Given the description of an element on the screen output the (x, y) to click on. 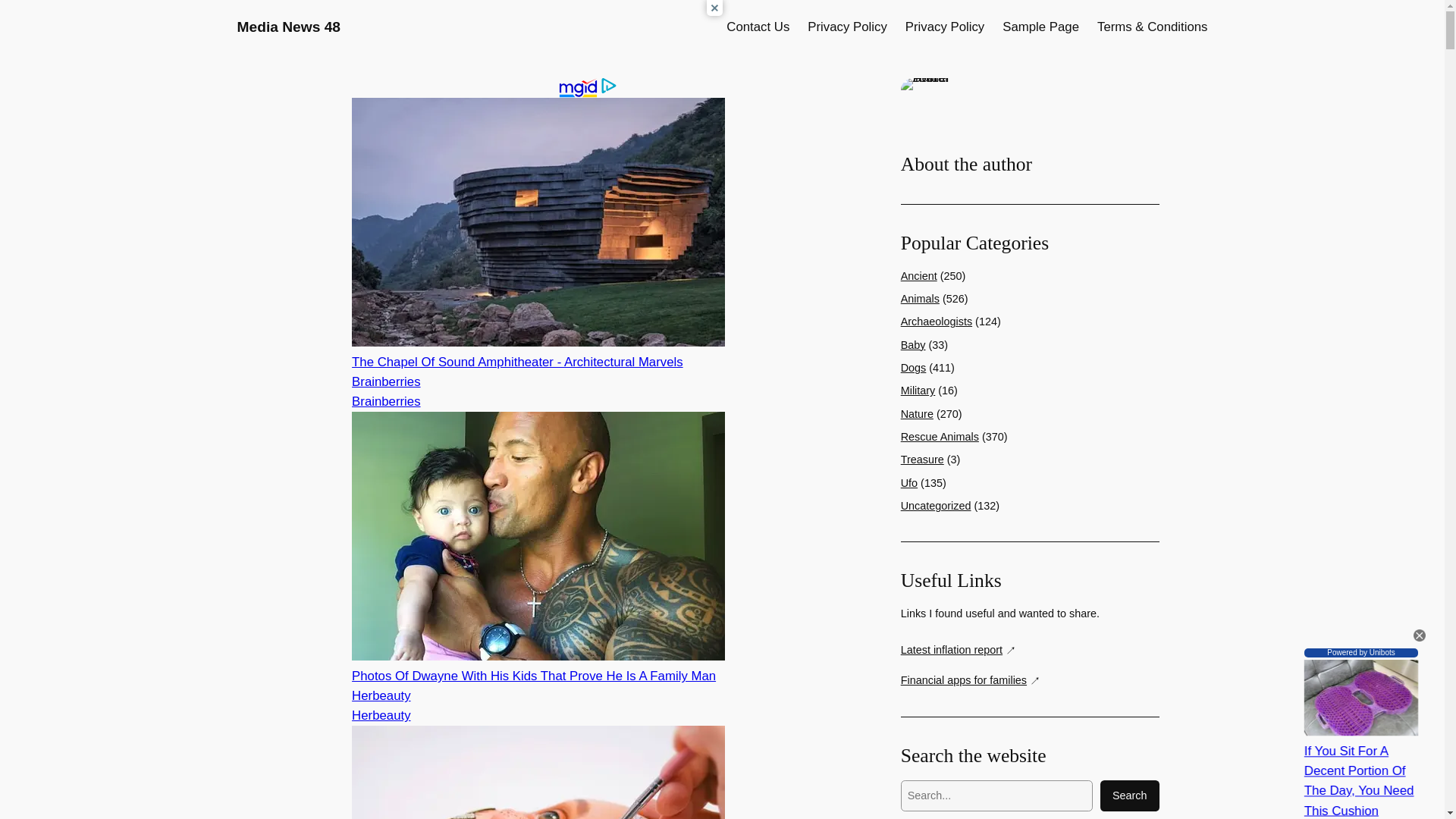
Baby (913, 345)
Financial apps for families (971, 680)
Media News 48 (287, 26)
Dogs (913, 367)
Latest inflation report (958, 650)
Search (1129, 796)
Ancient (919, 275)
Ufo (909, 482)
Sample Page (1040, 26)
Archaeologists (936, 321)
Contact Us (757, 26)
Privacy Policy (847, 26)
Military (918, 390)
Nature (917, 413)
Privacy Policy (944, 26)
